Given the description of an element on the screen output the (x, y) to click on. 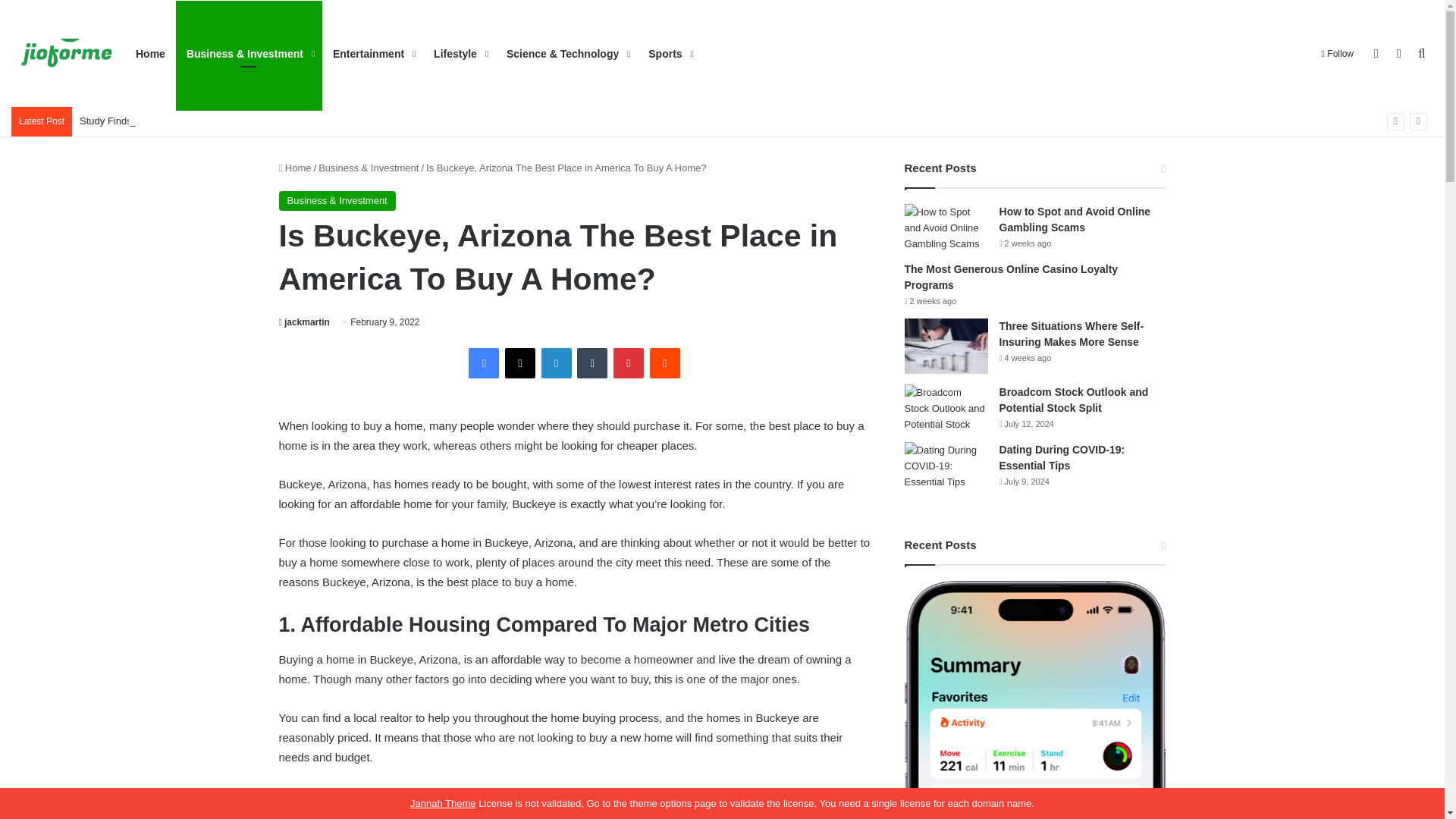
Pinterest (627, 363)
LinkedIn (556, 363)
Facebook (483, 363)
Facebook (483, 363)
Pinterest (627, 363)
jackmartin (304, 321)
Tumblr (591, 363)
X (520, 363)
X (520, 363)
